Given the description of an element on the screen output the (x, y) to click on. 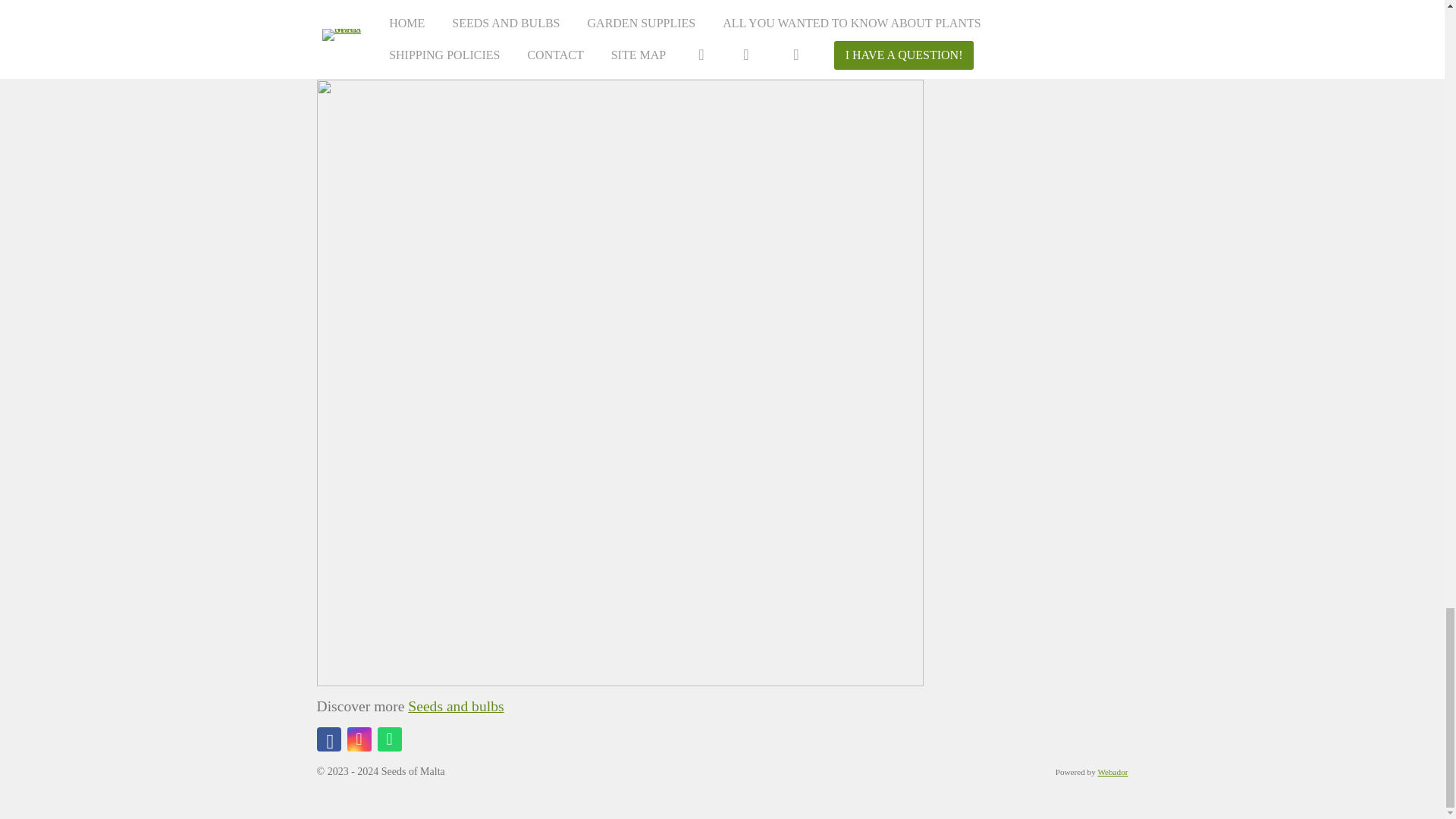
Seeds and bulbs (455, 706)
